Given the description of an element on the screen output the (x, y) to click on. 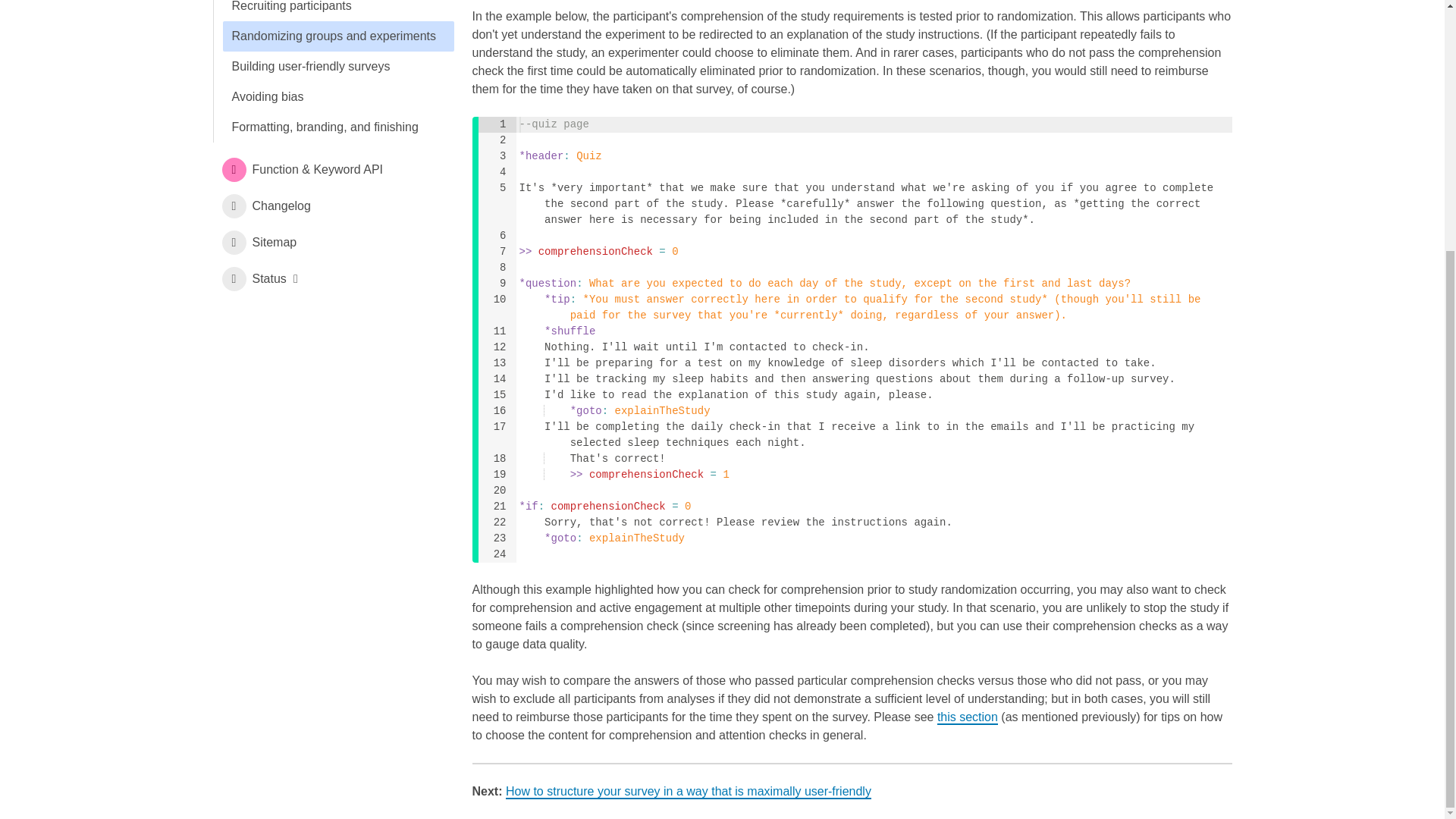
Status (332, 279)
Formatting, branding, and finishing (338, 127)
Sitemap (332, 242)
Building user-friendly surveys (338, 66)
Changelog (332, 206)
Randomizing groups and experiments (338, 36)
this section (967, 717)
Avoiding bias (338, 96)
Recruiting participants (338, 10)
